Given the description of an element on the screen output the (x, y) to click on. 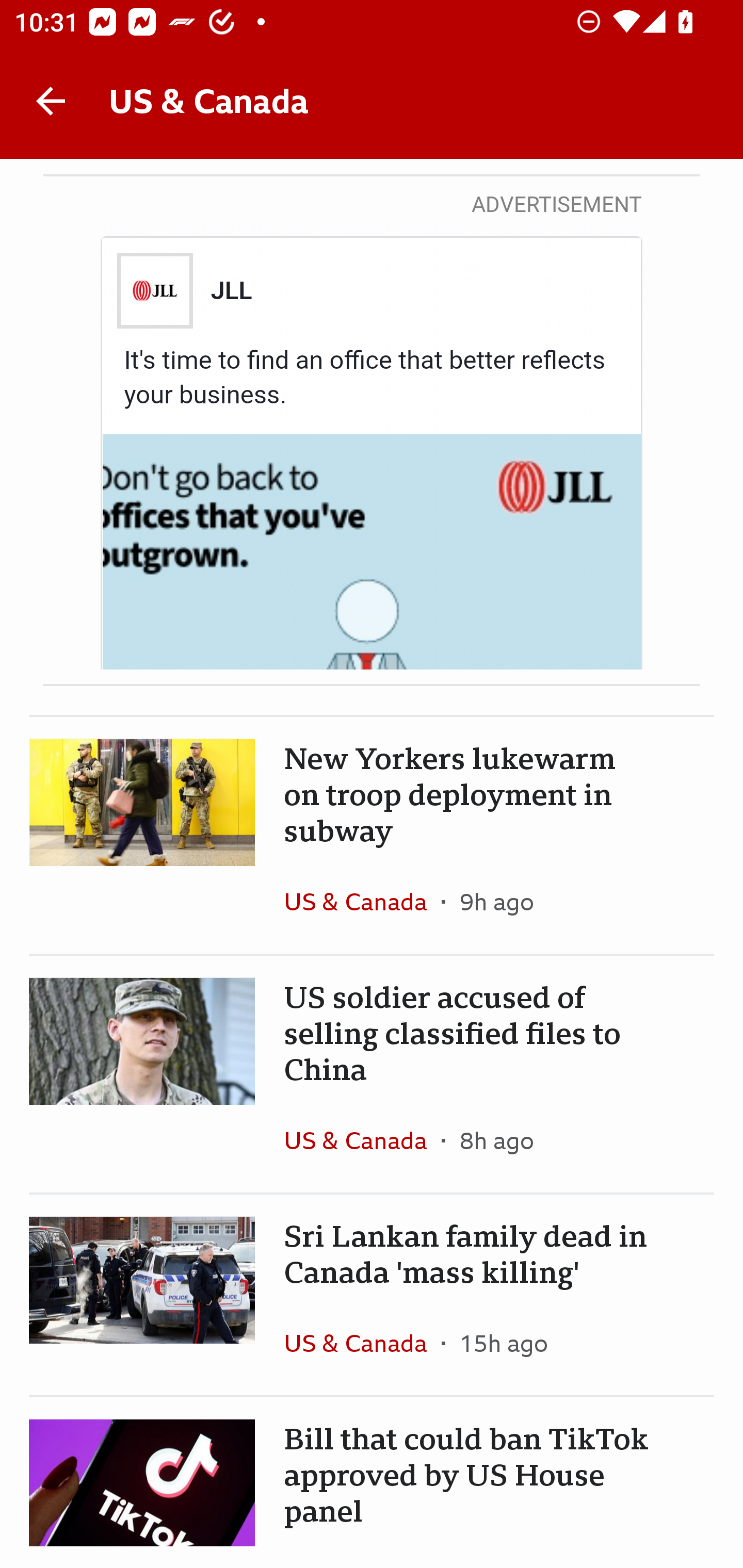
Back (50, 101)
JLL (230, 289)
US & Canada In the section US & Canada (362, 901)
US & Canada In the section US & Canada (362, 1140)
US & Canada In the section US & Canada (362, 1342)
